Given the description of an element on the screen output the (x, y) to click on. 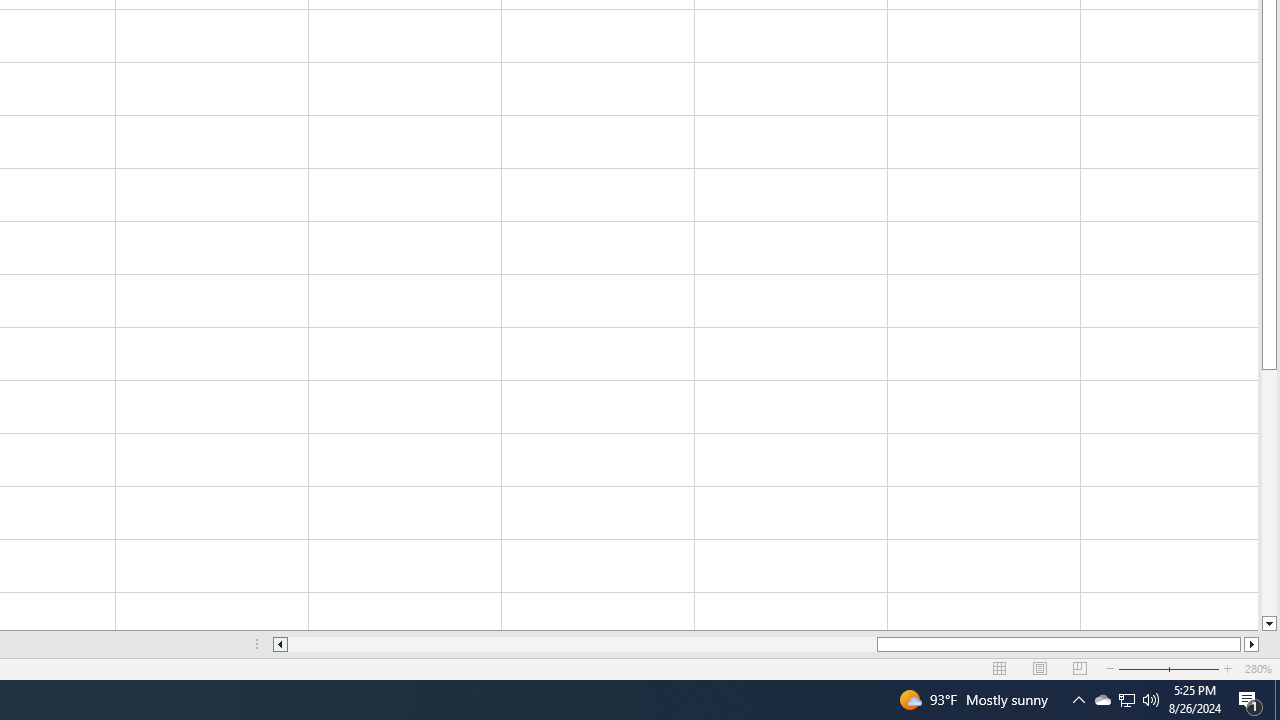
Page left (582, 644)
